Given the description of an element on the screen output the (x, y) to click on. 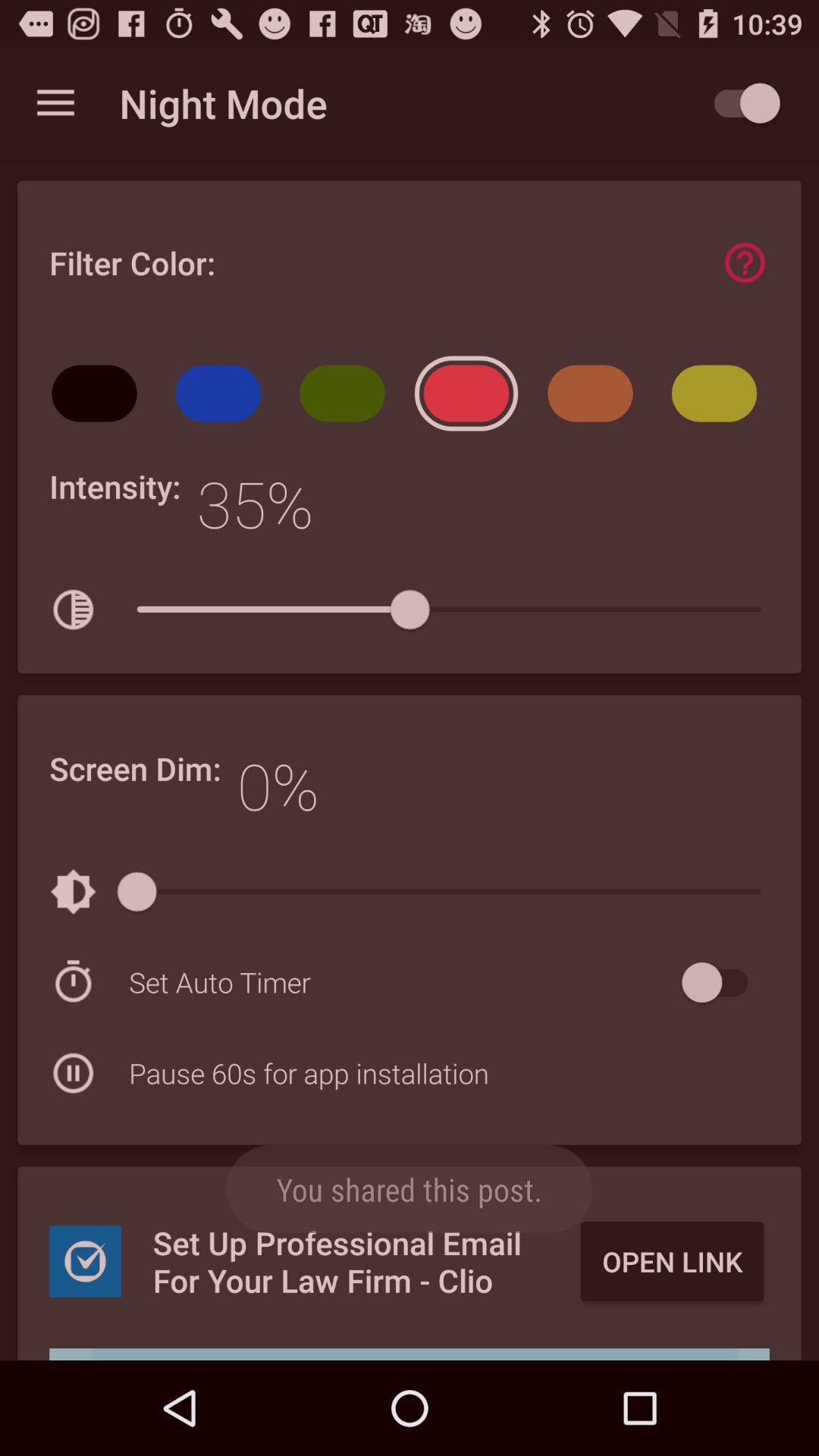
autoplay button (739, 103)
